Given the description of an element on the screen output the (x, y) to click on. 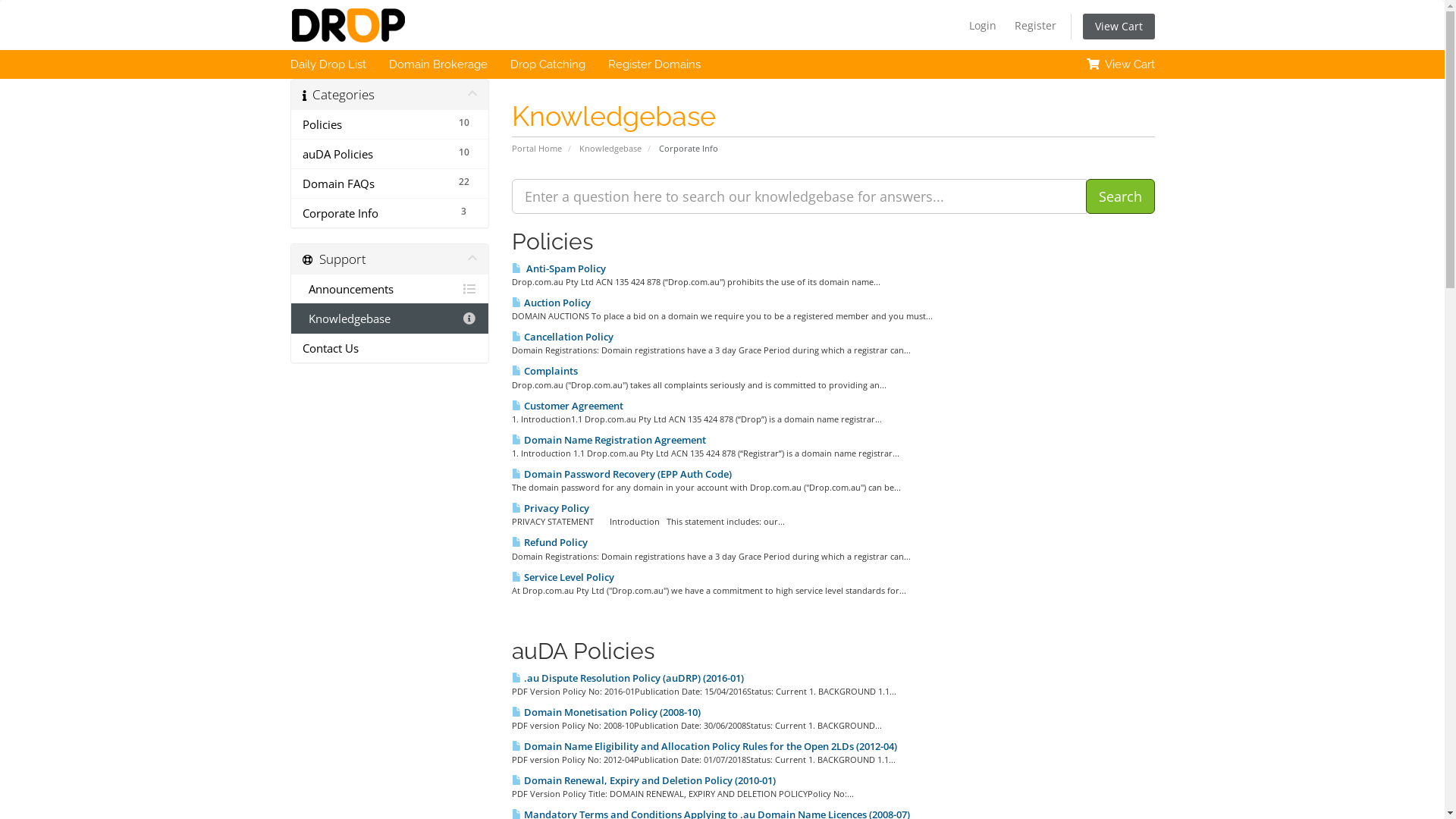
Knowledgebase Element type: text (610, 147)
22
Domain FAQs Element type: text (390, 183)
Daily Drop List Element type: text (328, 64)
  Announcements Element type: text (390, 289)
 Complaints Element type: text (544, 370)
 Refund Policy Element type: text (549, 542)
Login Element type: text (982, 25)
View Cart Element type: text (1118, 26)
  View Cart Element type: text (1120, 64)
Register Domains Element type: text (653, 64)
Search Element type: text (1119, 195)
Register Element type: text (1035, 25)
 Customer Agreement Element type: text (567, 405)
 Domain Renewal, Expiry and Deletion Policy (2010-01) Element type: text (643, 780)
 Cancellation Policy Element type: text (562, 336)
10
Policies Element type: text (390, 124)
3
Corporate Info Element type: text (390, 212)
 Service Level Policy Element type: text (562, 576)
 .au Dispute Resolution Policy (auDRP) (2016-01) Element type: text (627, 677)
 Privacy Policy Element type: text (550, 507)
Contact Us Element type: text (390, 347)
Domain Brokerage Element type: text (437, 64)
Drop Catching Element type: text (547, 64)
  Knowledgebase Element type: text (390, 318)
 Domain Password Recovery (EPP Auth Code) Element type: text (621, 473)
10
auDA Policies Element type: text (390, 153)
Portal Home Element type: text (536, 147)
 Domain Name Registration Agreement Element type: text (608, 439)
 Domain Monetisation Policy (2008-10) Element type: text (605, 711)
  Anti-Spam Policy Element type: text (558, 268)
 Auction Policy Element type: text (550, 302)
